Given the description of an element on the screen output the (x, y) to click on. 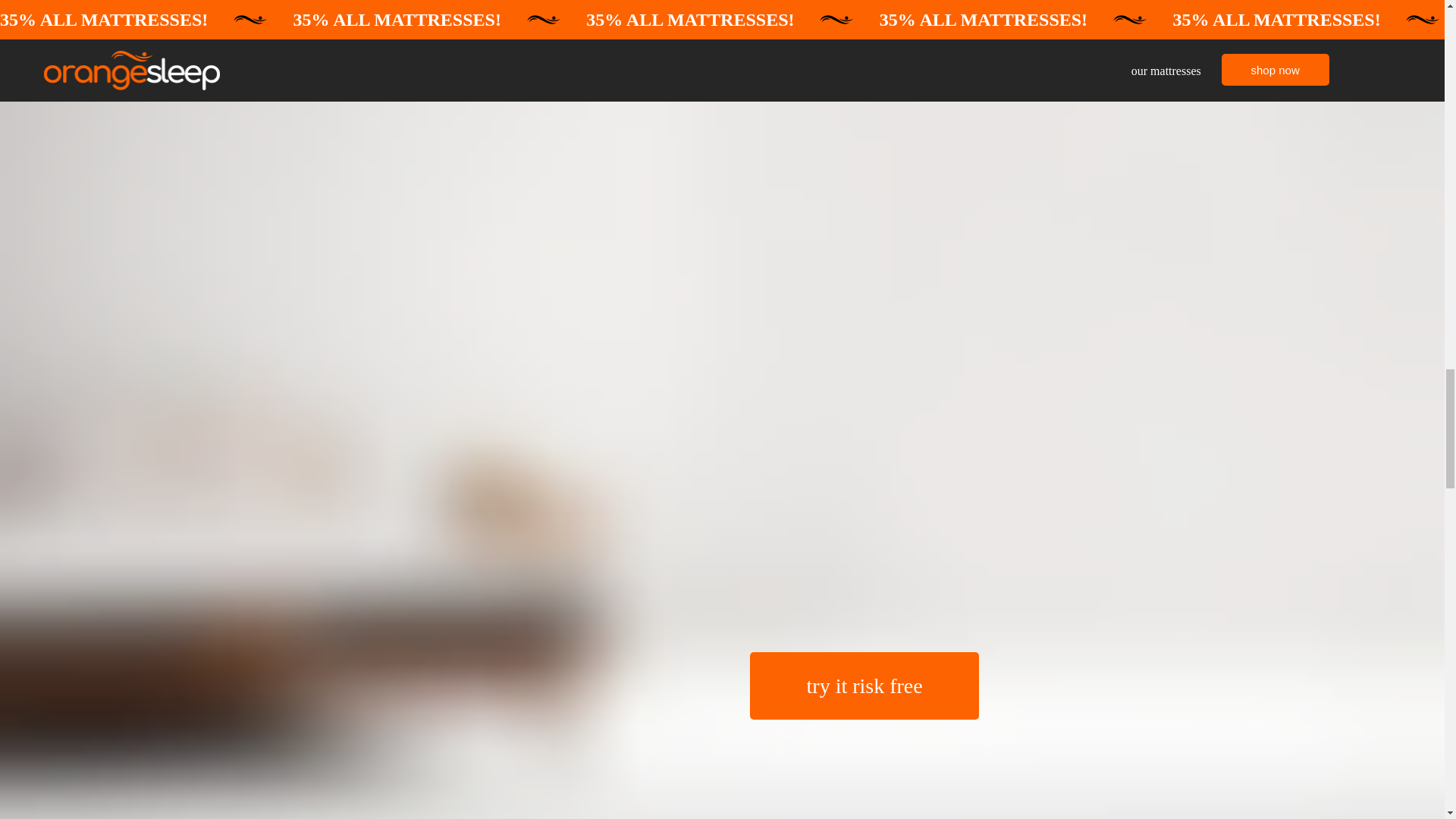
try it risk free (864, 685)
